Given the description of an element on the screen output the (x, y) to click on. 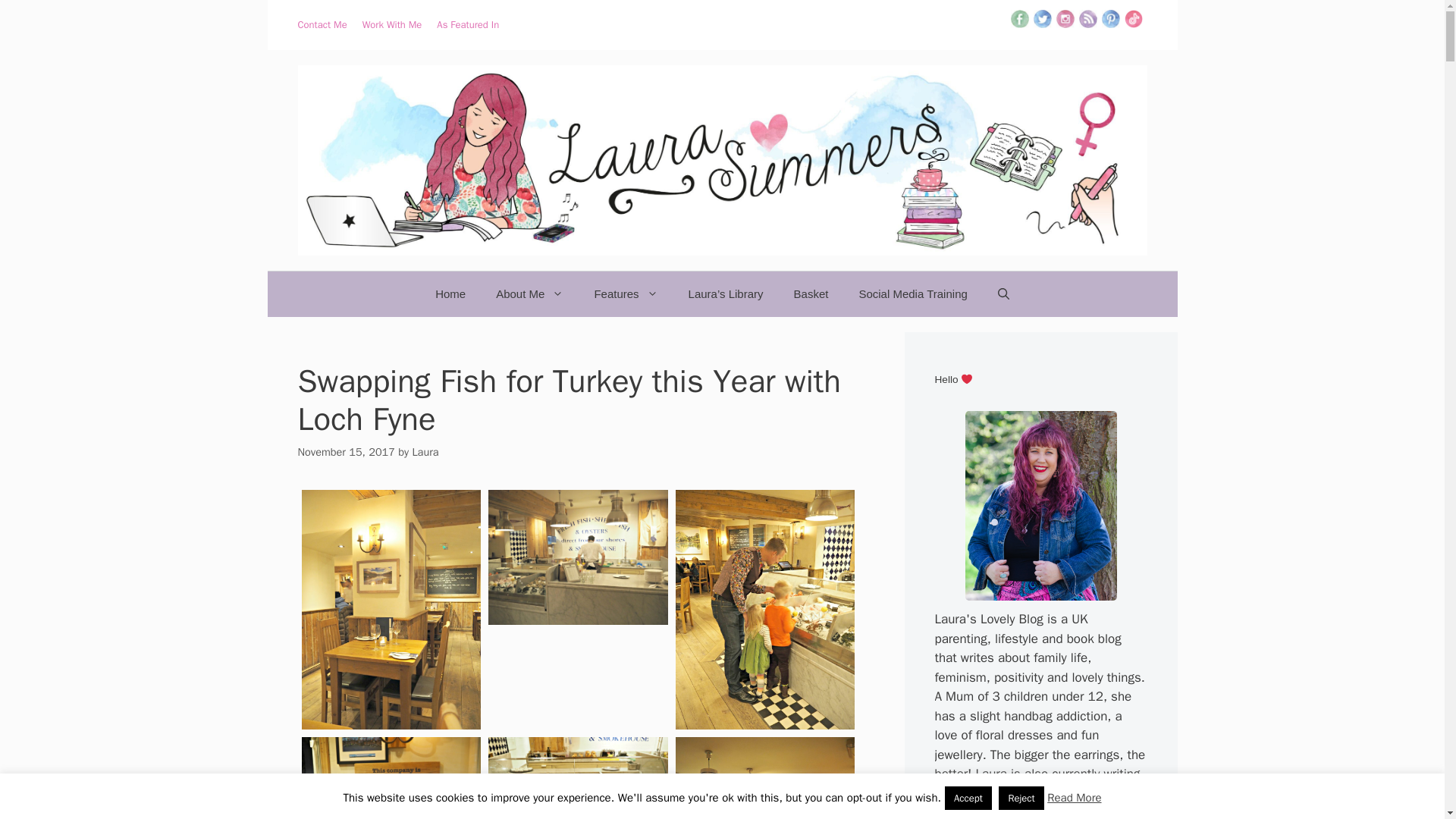
Laura (425, 451)
As Featured In (467, 24)
Home (450, 293)
Work With Me (392, 24)
Contact Me (321, 24)
Basket (811, 293)
About Me (529, 293)
Social Media Training (912, 293)
Features (625, 293)
View all posts by Laura (425, 451)
